Given the description of an element on the screen output the (x, y) to click on. 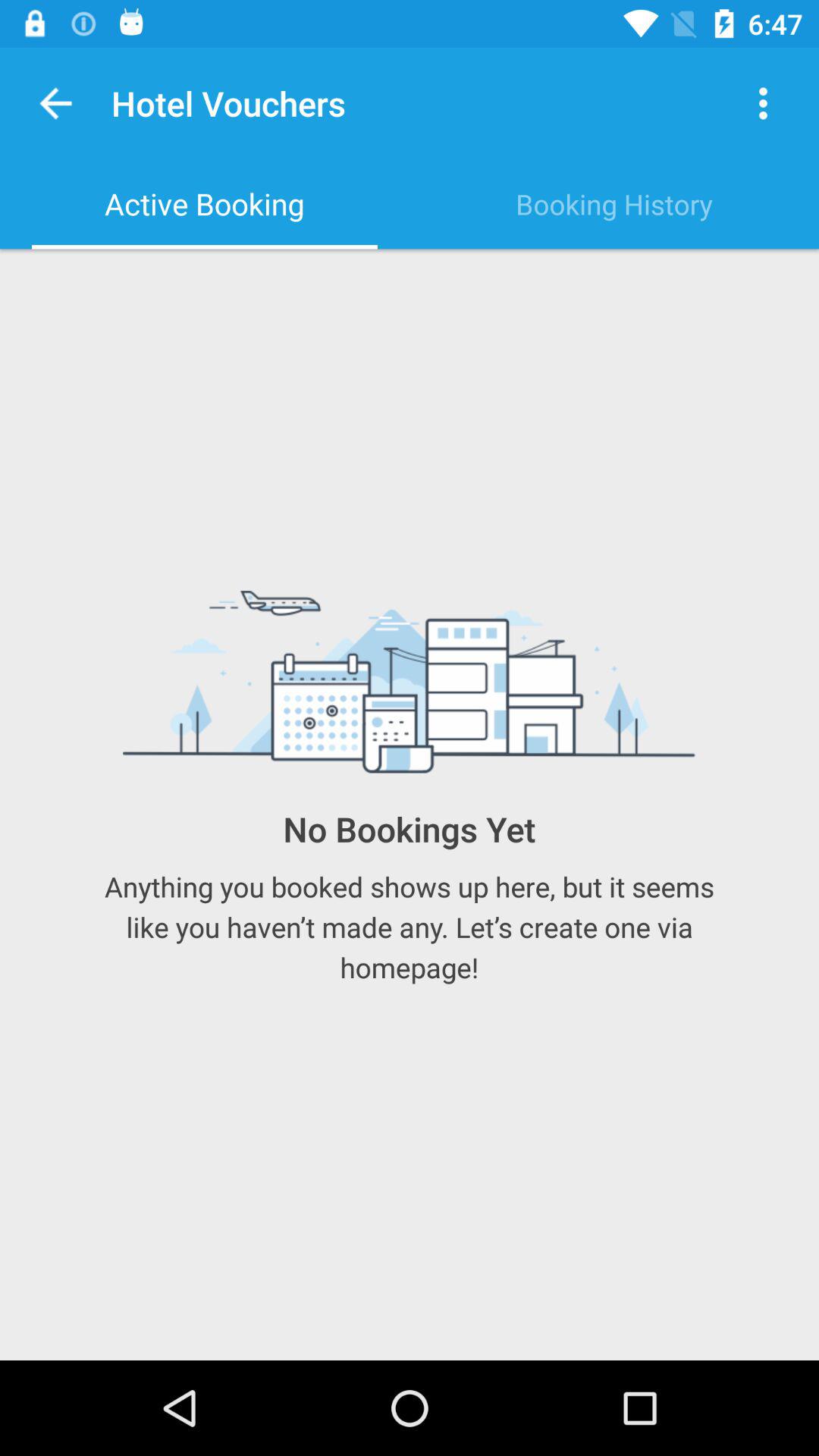
turn on the item next to the active booking item (614, 204)
